Given the description of an element on the screen output the (x, y) to click on. 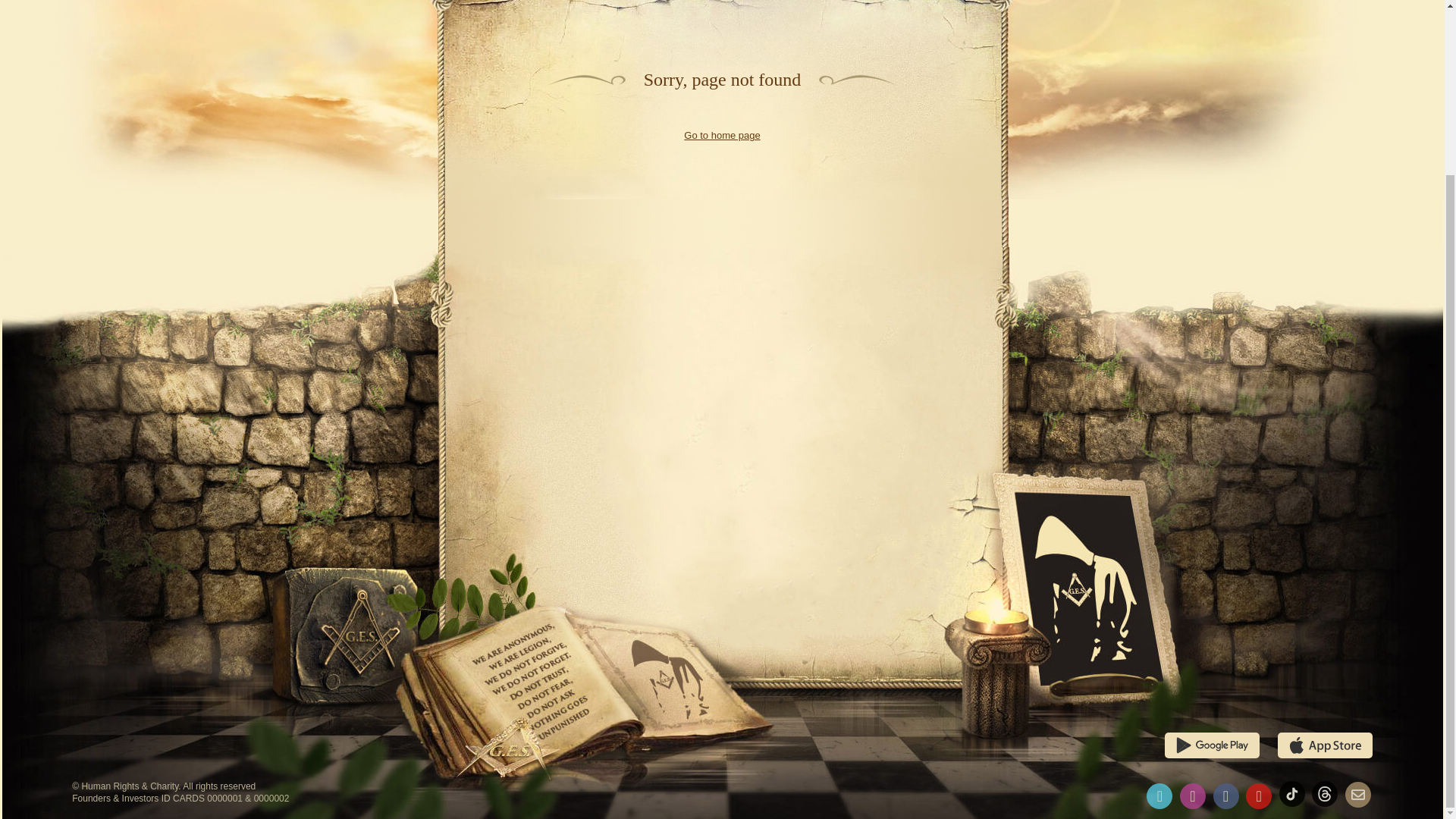
Go to home page (722, 134)
